Given the description of an element on the screen output the (x, y) to click on. 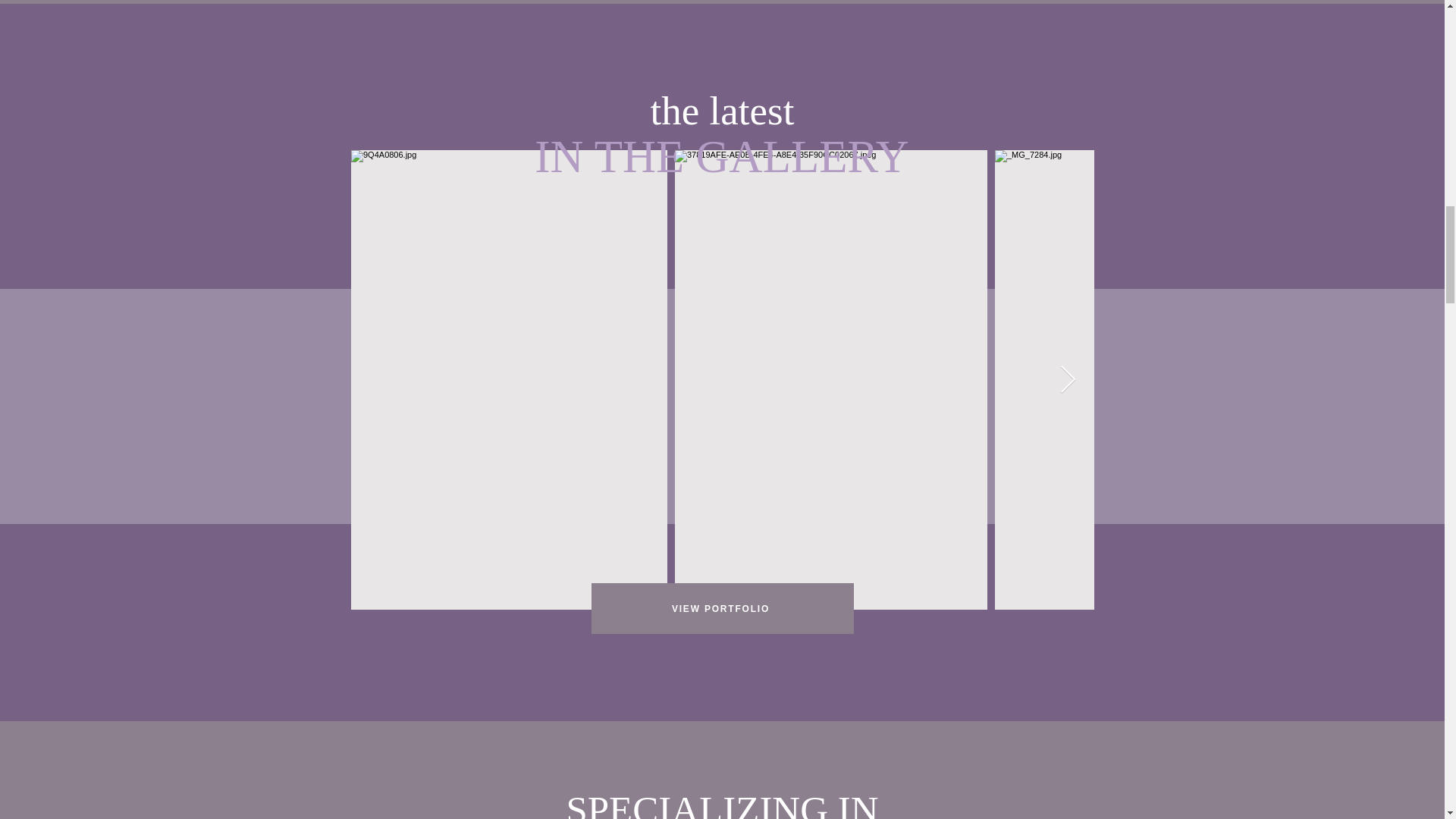
VIEW PORTFOLIO (722, 608)
